Given the description of an element on the screen output the (x, y) to click on. 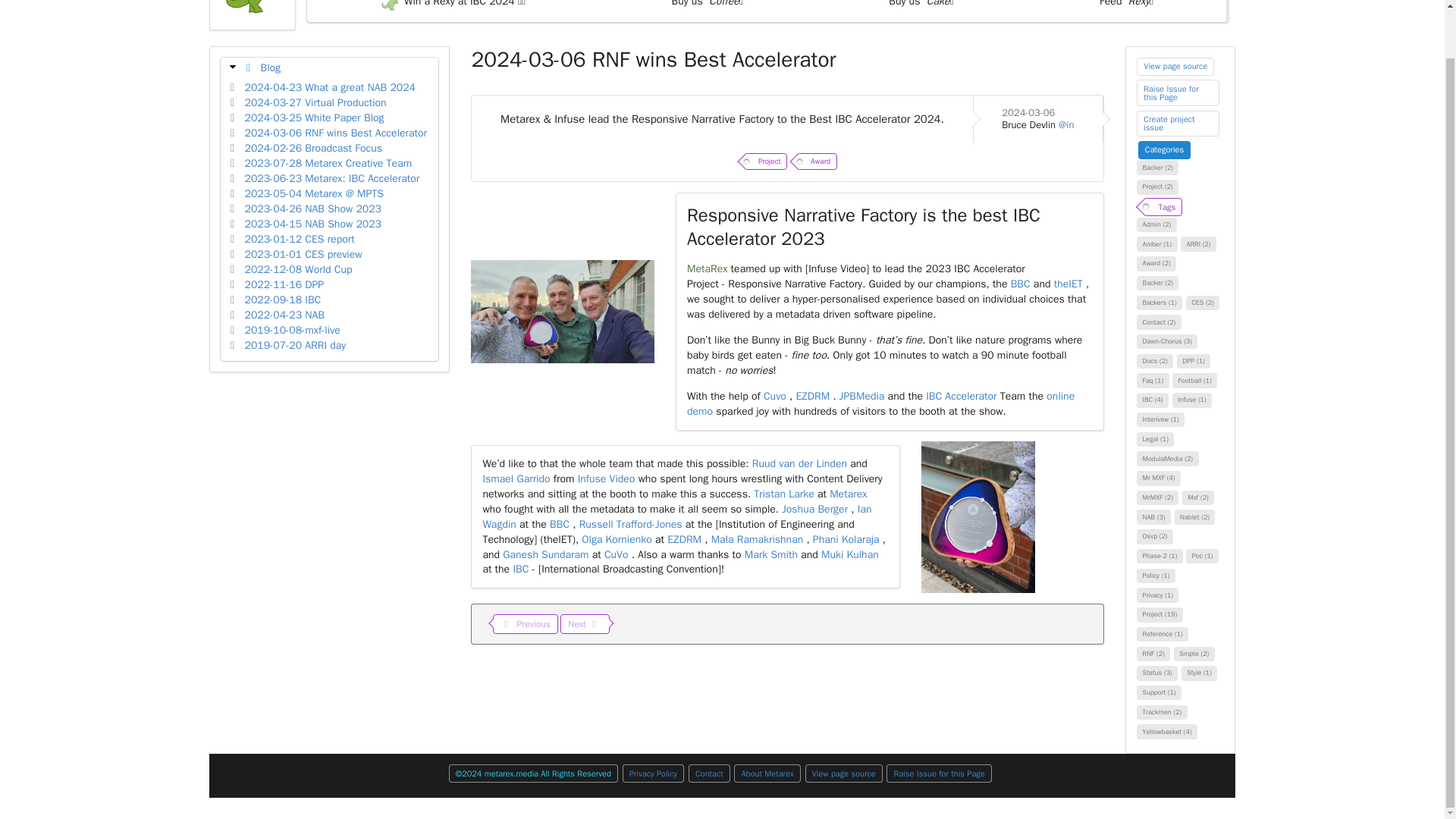
2024-03-25 White Paper Blog (314, 117)
2024-03-27 Virtual Production (315, 102)
2023-01-01 CES preview (303, 254)
2024-03-27 Virtual Production (315, 102)
2023-04-26 NAB Show 2023 (312, 208)
Blog (270, 67)
2023-06-23 Metarex: IBC Accelerator (332, 178)
2022-04-23 NAB (284, 314)
2024-03-06 RNF wins Best Accelerator (336, 132)
2024-04-23 What a great NAB 2024 (329, 87)
Project (766, 161)
2022-12-08 World Cup (298, 269)
2024-02-26 Broadcast Focus (313, 147)
2023-04-15 NAB Show 2023 (312, 223)
MetaRex at NAB 2022 in Las Vegas (284, 314)
